Given the description of an element on the screen output the (x, y) to click on. 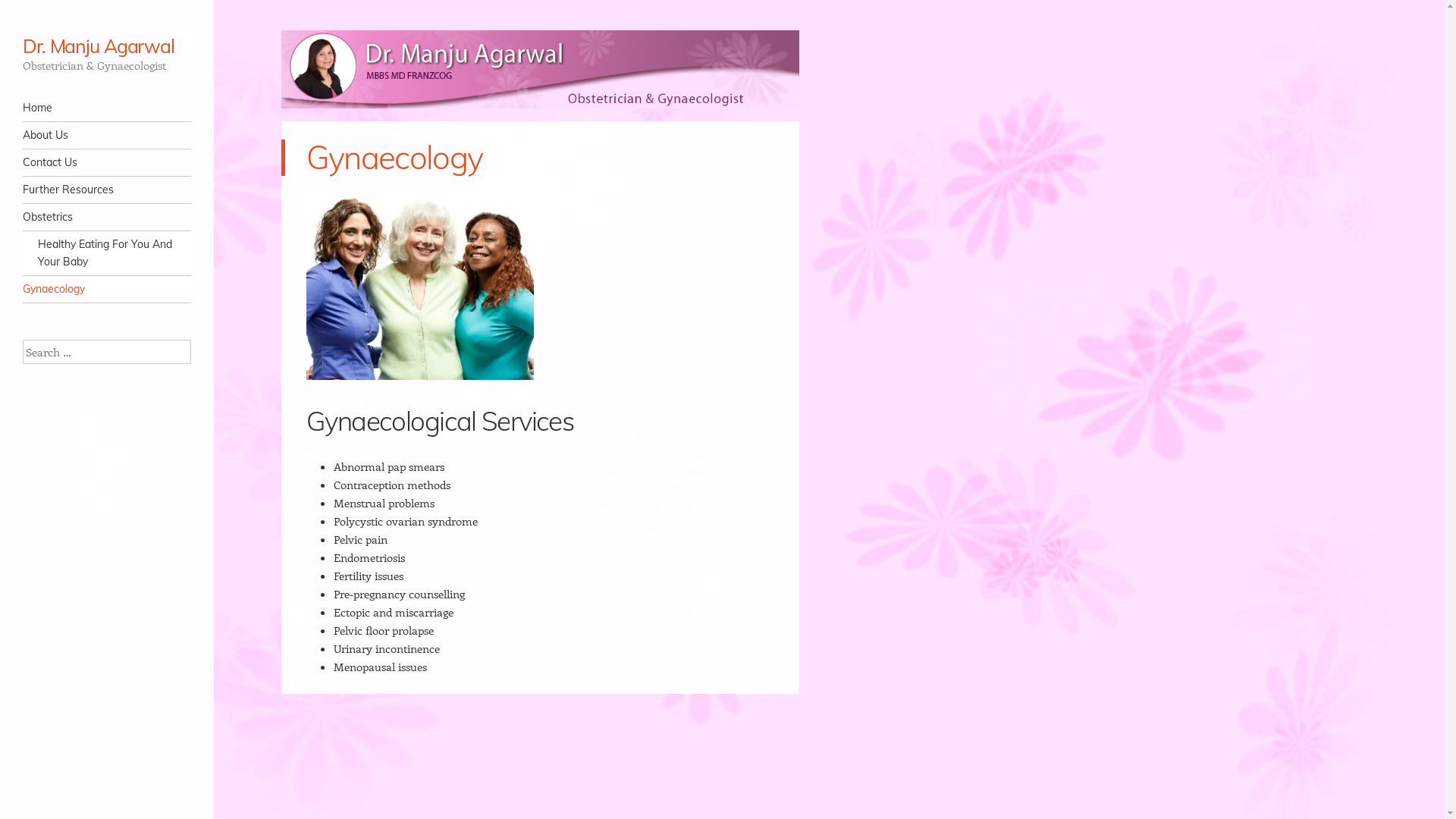
Search Element type: text (32, 11)
Home Element type: text (106, 107)
Gynaecology Element type: text (106, 289)
Further Resources Element type: text (106, 189)
Obstetrics Element type: text (106, 216)
About Us Element type: text (106, 135)
Contact Us Element type: text (106, 162)
Healthy Eating For You And Your Baby Element type: text (106, 253)
Dr. Manju Agarwal Element type: text (98, 45)
Skip to content Element type: text (59, 107)
